Given the description of an element on the screen output the (x, y) to click on. 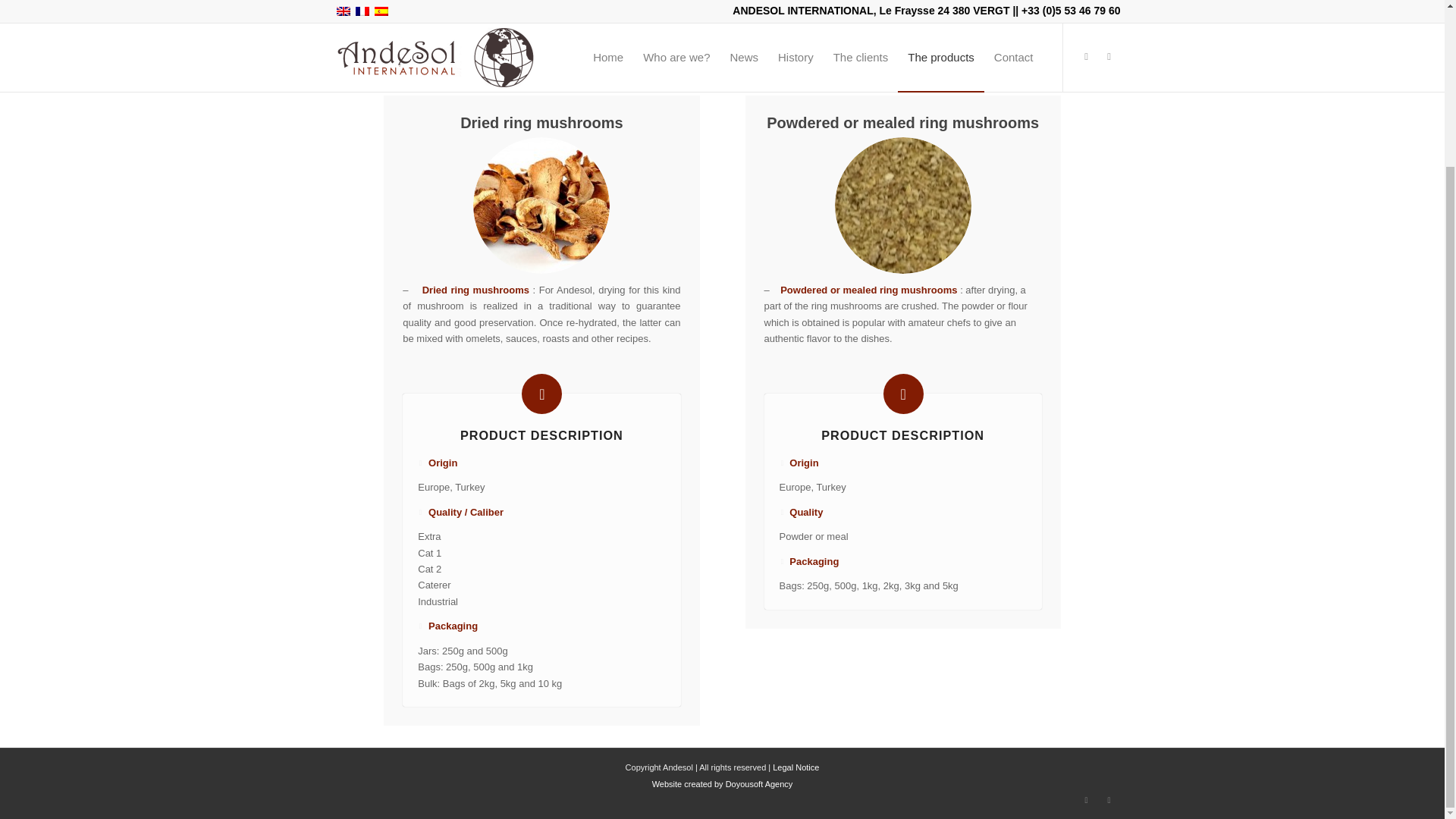
Legal Notice (795, 767)
Capture 033 (902, 205)
Mousserons (541, 205)
Website created by Doyousoft Agency (722, 783)
Mail (1109, 799)
Facebook (1086, 799)
